Given the description of an element on the screen output the (x, y) to click on. 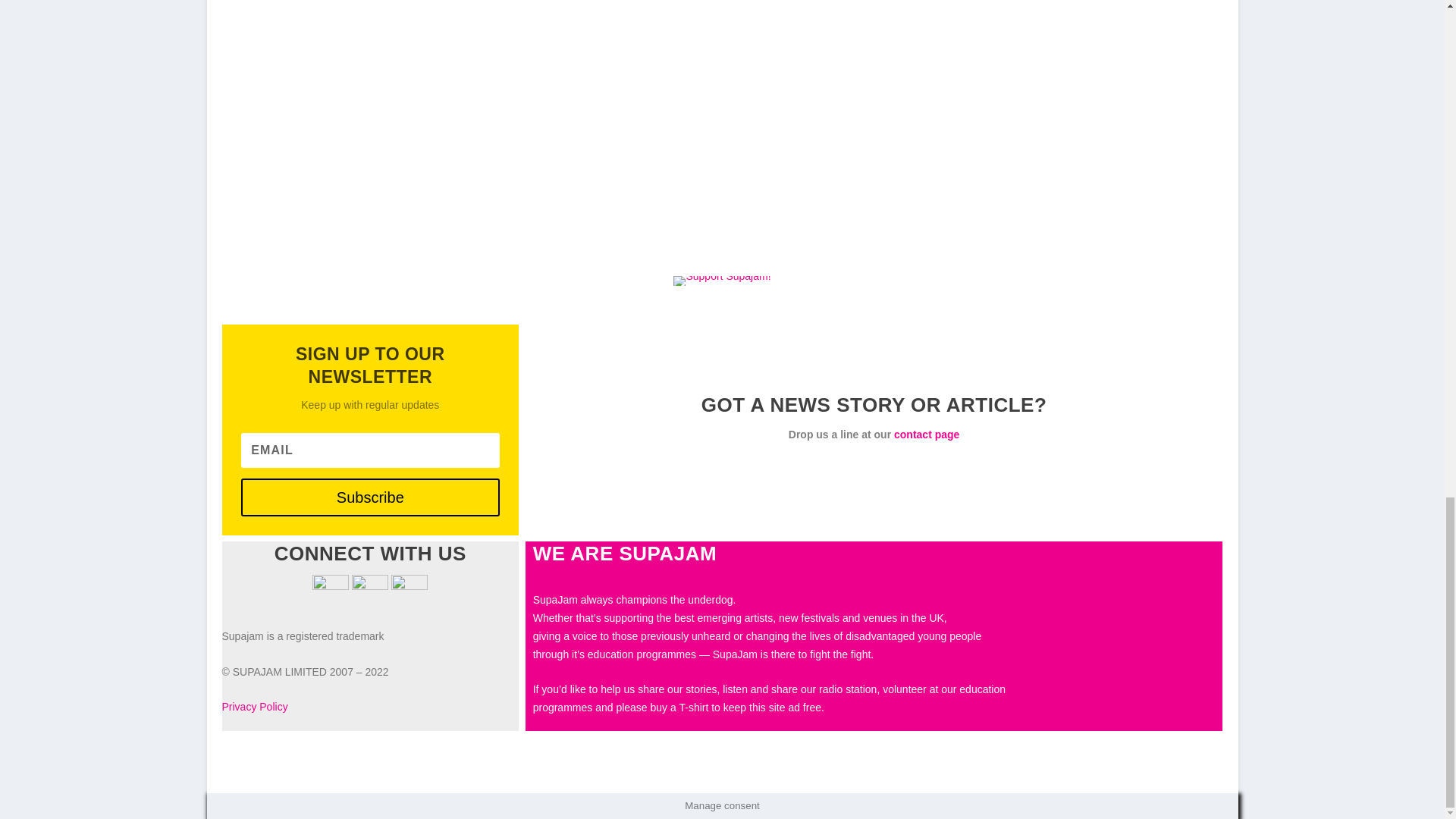
Support Supajam! (721, 282)
Comment Form (554, 86)
